Given the description of an element on the screen output the (x, y) to click on. 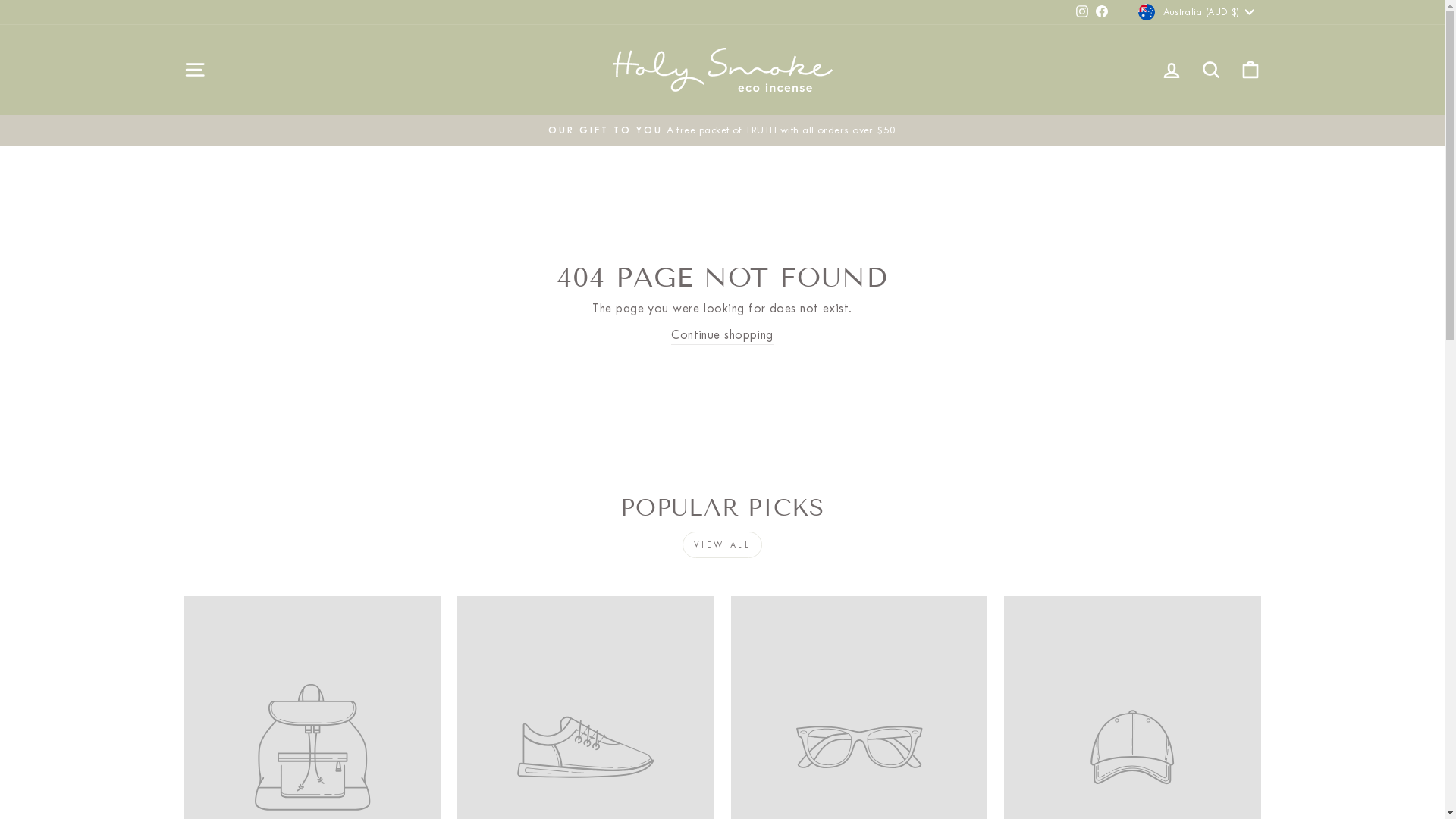
Australia (AUD $) Element type: text (1197, 12)
ICON-HAMBURGER
SITE NAVIGATION Element type: text (193, 69)
ICON-SEARCH
SEARCH Element type: text (1210, 69)
Continue shopping Element type: text (722, 335)
Facebook Element type: text (1101, 11)
VIEW ALL Element type: text (722, 544)
ACCOUNT
LOG IN Element type: text (1170, 69)
ICON-BAG-MINIMAL
CART Element type: text (1249, 69)
instagram
Instagram Element type: text (1082, 11)
